Given the description of an element on the screen output the (x, y) to click on. 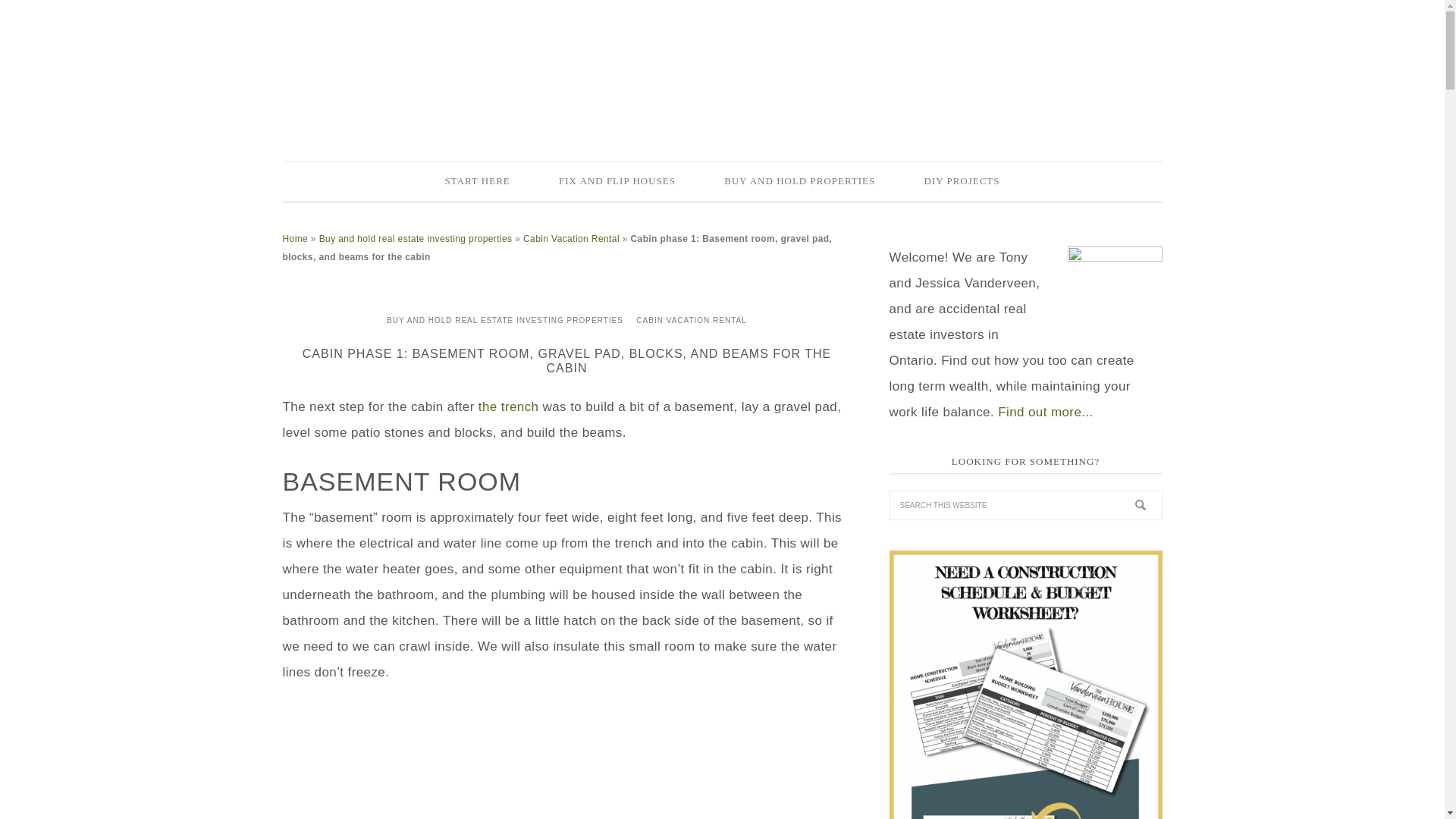
FIX AND FLIP HOUSES (616, 180)
BUY AND HOLD PROPERTIES (799, 180)
START HERE (477, 180)
DIY PROJECTS (962, 180)
BUY AND HOLD REAL ESTATE INVESTING PROPERTIES (504, 320)
THE VANDERVEEN HOUSE (722, 69)
Home (294, 238)
the trench (508, 406)
Cabin Vacation Rental (571, 238)
CABIN VACATION RENTAL (690, 320)
Find out more... (1045, 411)
Buy and hold real estate investing properties (415, 238)
